Given the description of an element on the screen output the (x, y) to click on. 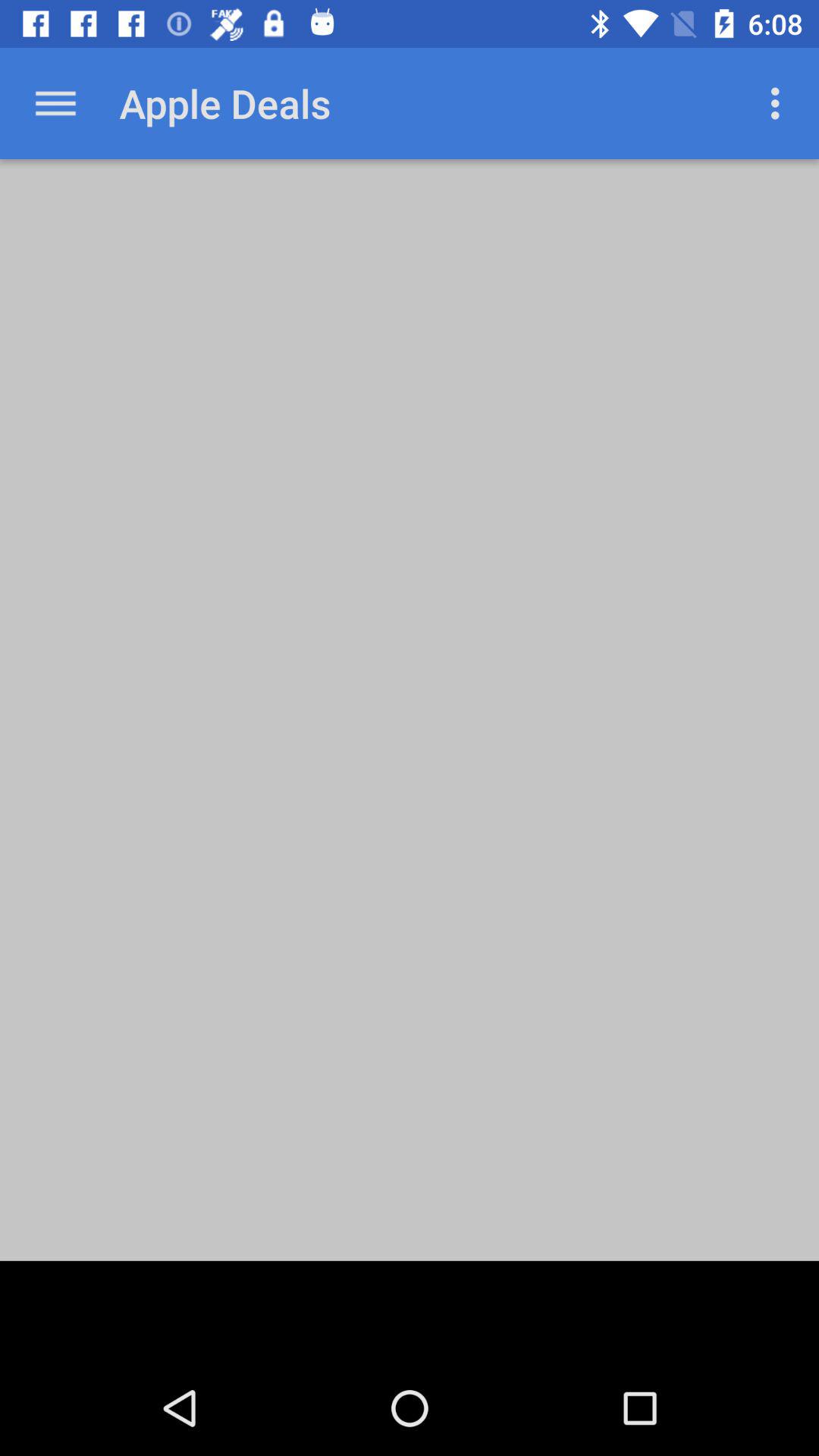
tap the item at the top right corner (779, 103)
